Given the description of an element on the screen output the (x, y) to click on. 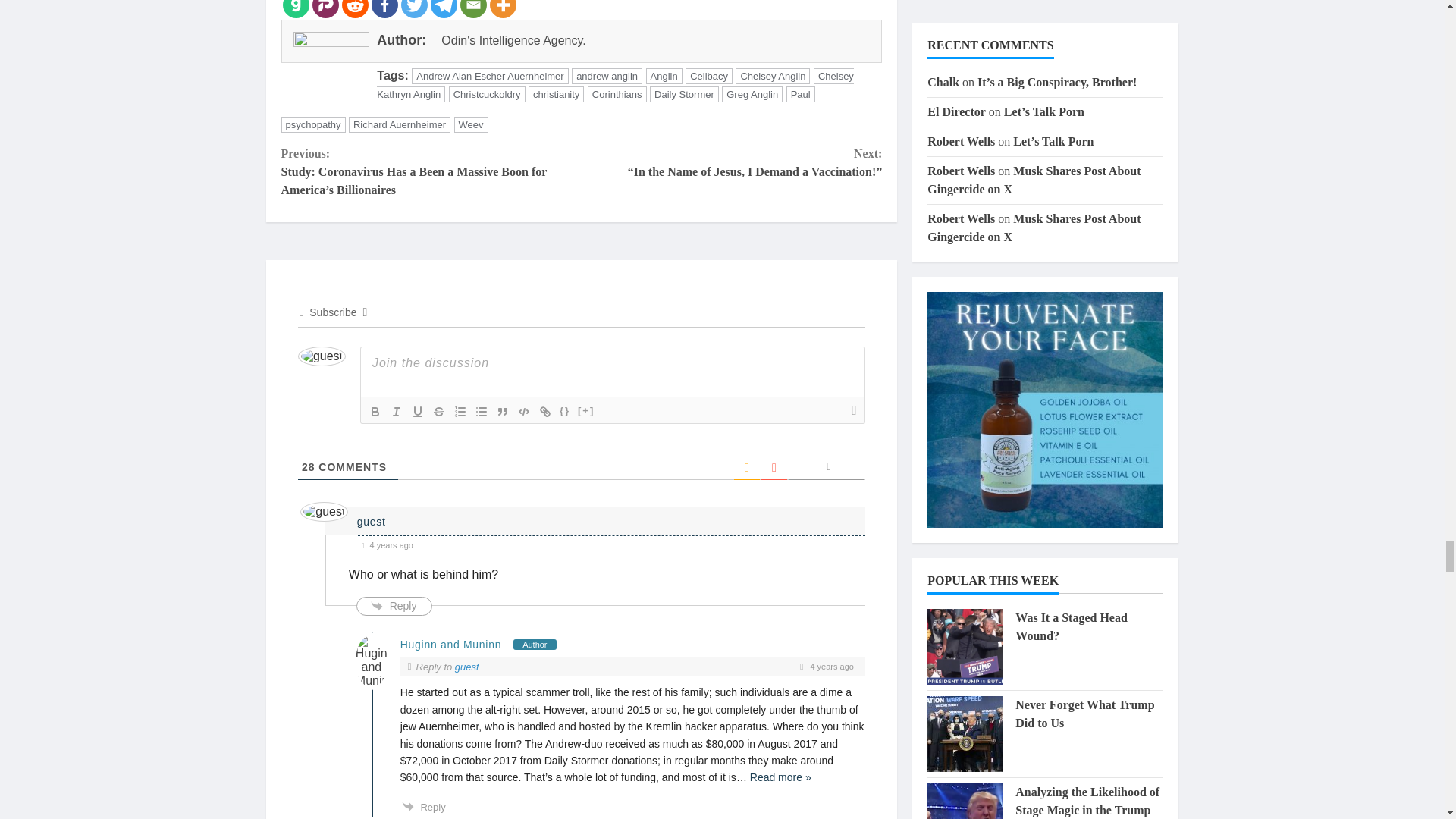
Parler (326, 9)
Gab (295, 9)
Reddit (354, 9)
